Given the description of an element on the screen output the (x, y) to click on. 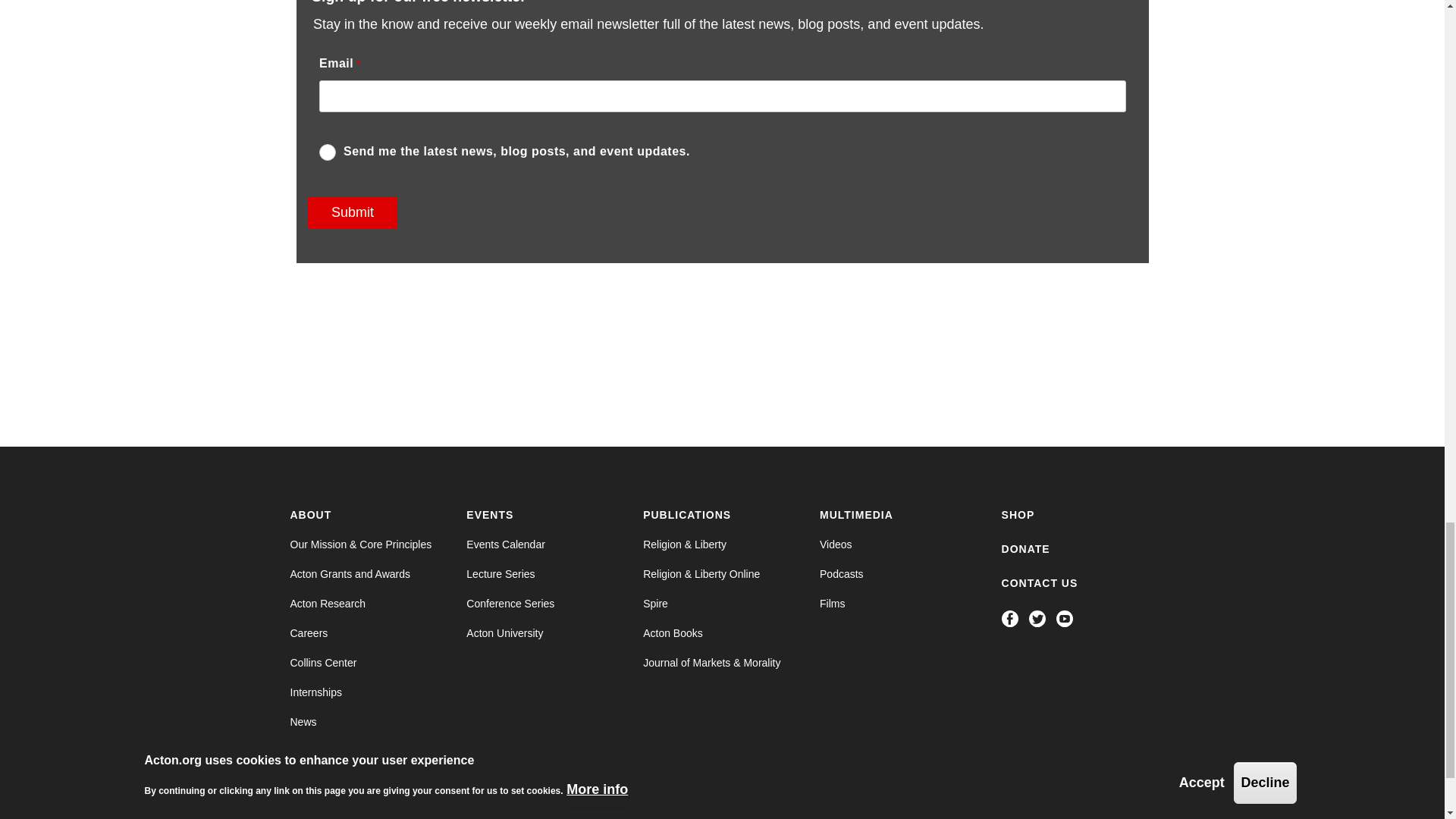
Events (489, 514)
